Given the description of an element on the screen output the (x, y) to click on. 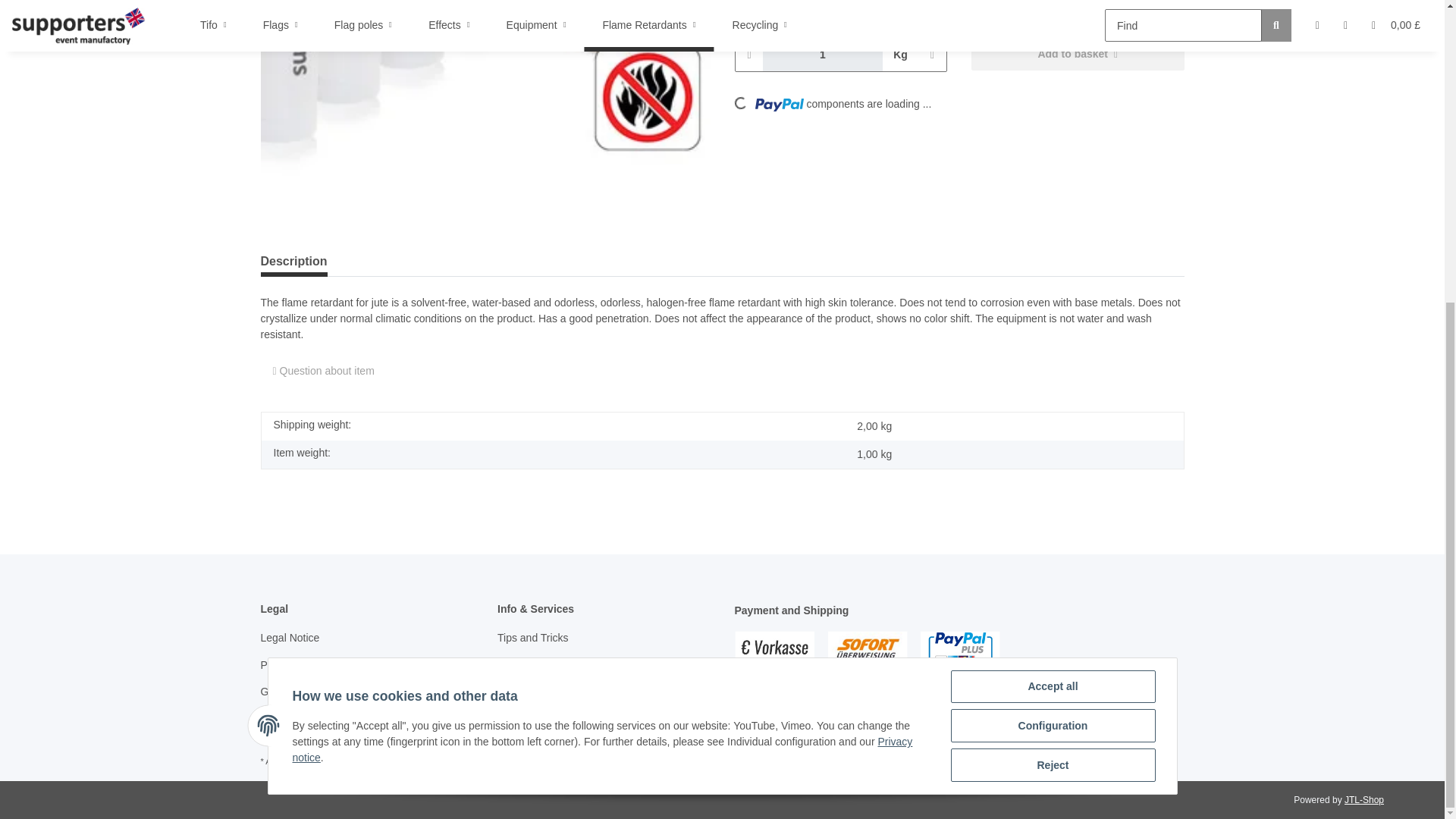
1 (822, 54)
